Given the description of an element on the screen output the (x, y) to click on. 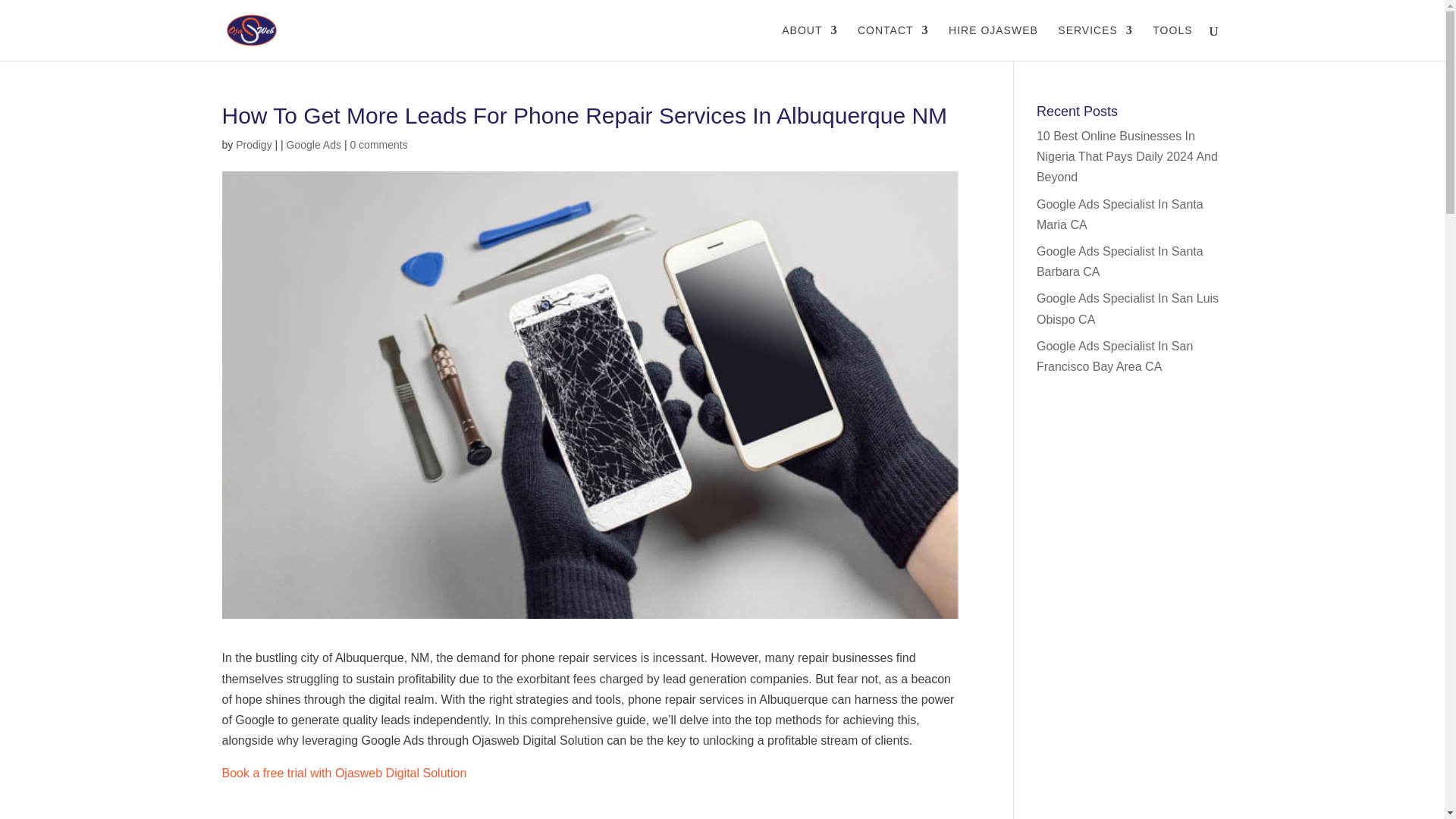
Google Ads (313, 144)
Google Ads Specialist In San Luis Obispo CA (1127, 308)
TOOLS (1172, 42)
SERVICES (1095, 42)
Google Ads Specialist In Santa Barbara CA (1120, 261)
CONTACT (892, 42)
Google Ads Specialist In Santa Maria CA (1120, 214)
0 comments (378, 144)
Google Ads Specialist In San Francisco Bay Area CA (1114, 356)
Posts by Prodigy (252, 144)
Book a free trial with Ojasweb Digital Solution (343, 772)
HIRE OJASWEB (993, 42)
ABOUT (809, 42)
Prodigy (252, 144)
